Given the description of an element on the screen output the (x, y) to click on. 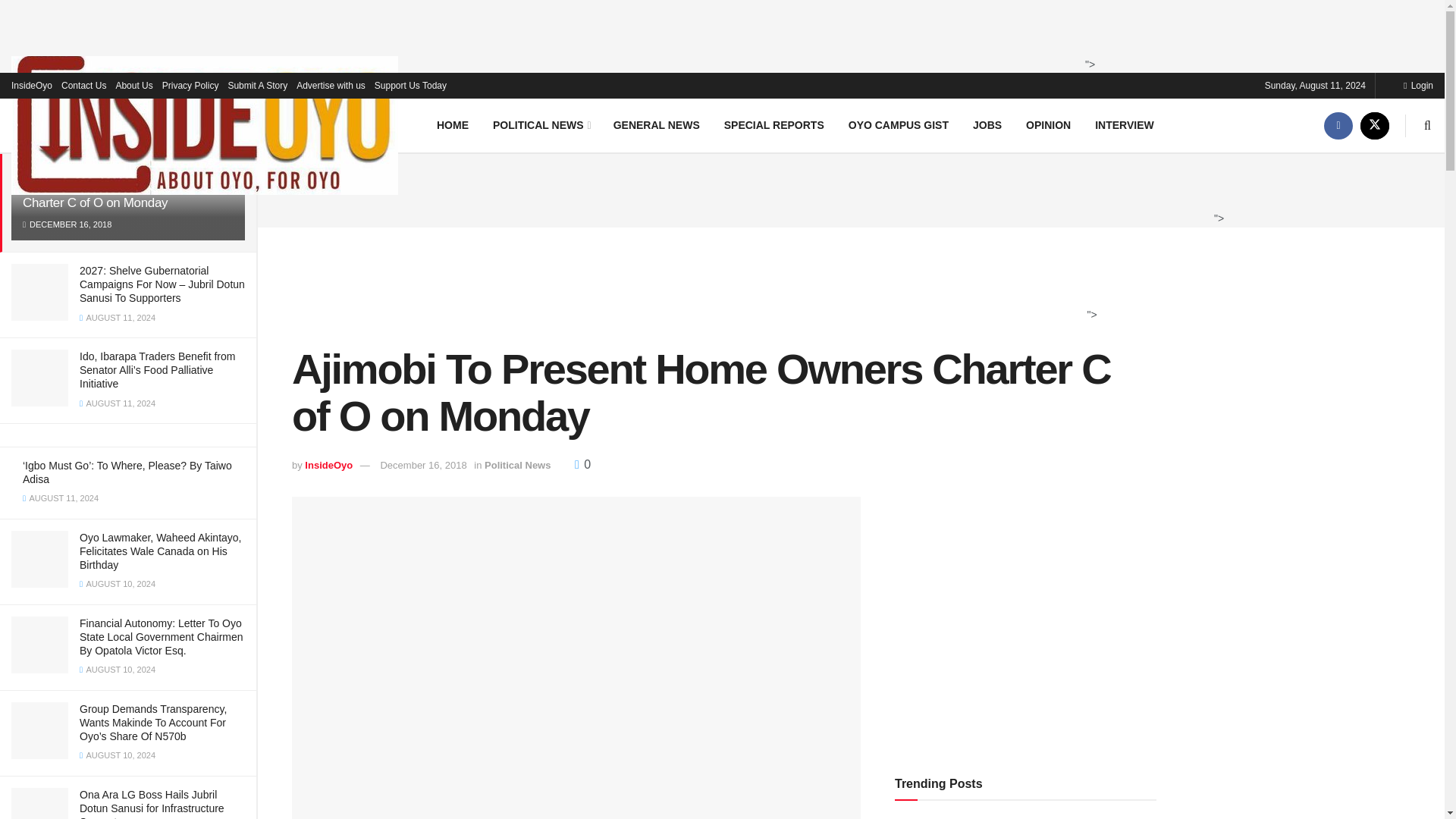
About Us (133, 85)
Ajimobi To Present Home Owners Charter C of O on Monday (115, 193)
Advertisement (1025, 633)
InsideOyo (31, 85)
Advertisement (716, 33)
POLITICAL NEWS (540, 125)
Submit A Story (256, 85)
Contact Us (83, 85)
Advertisement (846, 187)
